Given the description of an element on the screen output the (x, y) to click on. 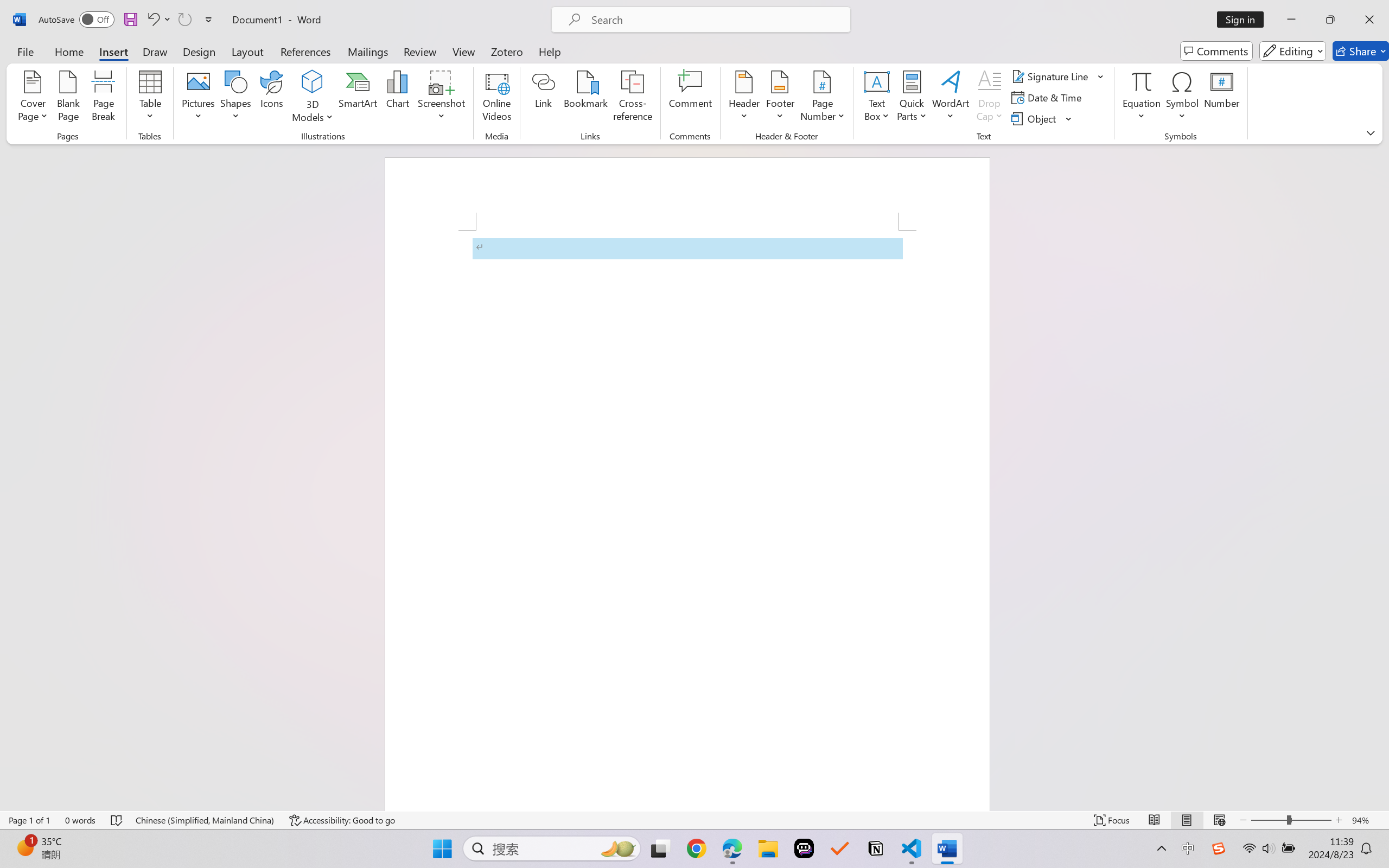
Undo Apply Quick Style (152, 19)
Page Break (103, 97)
Number... (1221, 97)
Text Box (876, 97)
Link (543, 97)
Drop Cap (989, 97)
Chart... (396, 97)
